Given the description of an element on the screen output the (x, y) to click on. 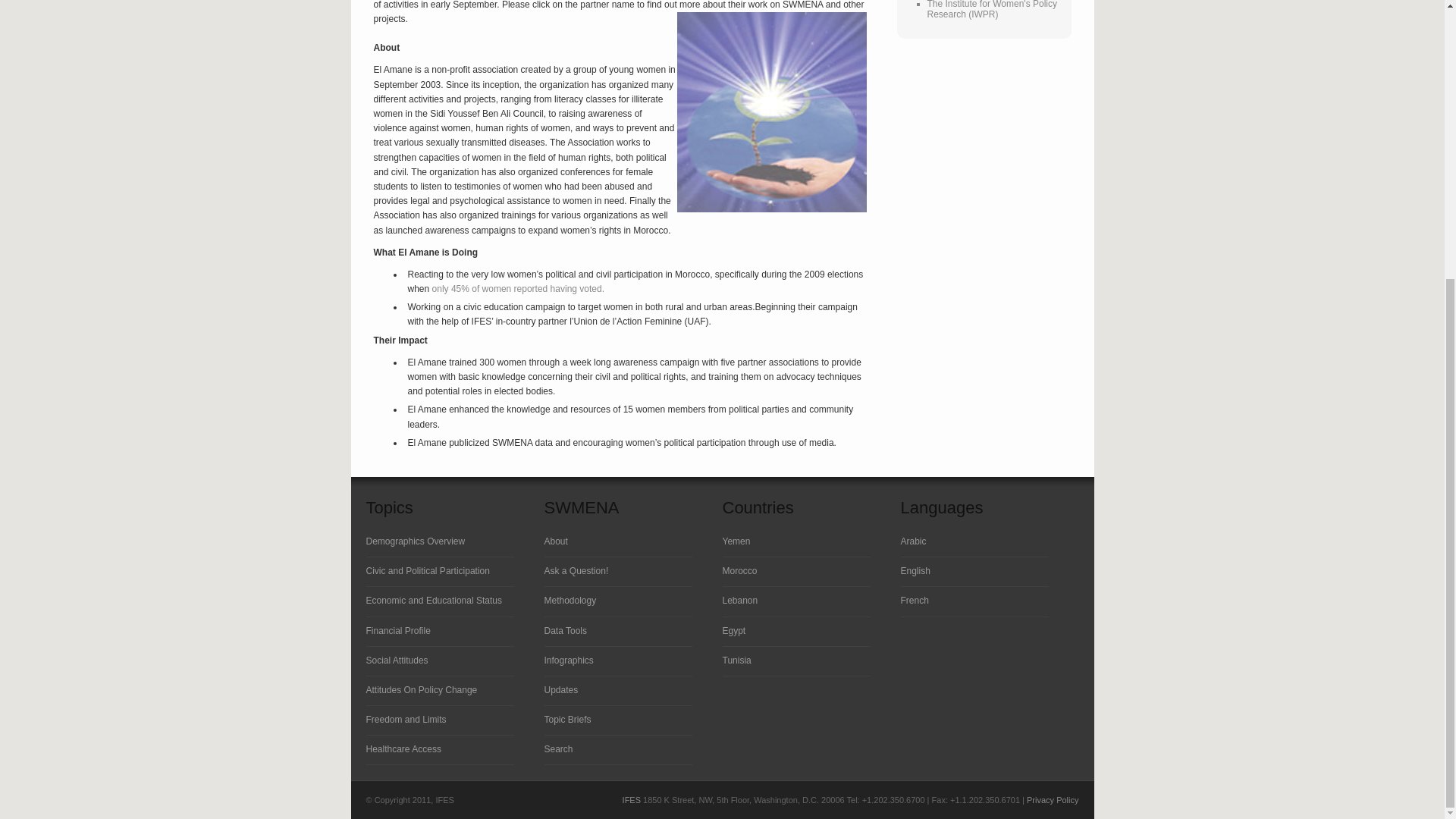
Infographics (569, 660)
About (555, 541)
Data Tools (565, 629)
Methodology (570, 600)
Economic and Educational Status (432, 600)
Civic and Political Participation (427, 570)
Social Attitudes (396, 660)
Freedom and Limits (405, 719)
Updates (561, 689)
Attitudes On Policy Change (421, 689)
Ask a Question! (576, 570)
Healthcare Access (403, 748)
Financial Profile (397, 629)
Demographics Overview (414, 541)
